Given the description of an element on the screen output the (x, y) to click on. 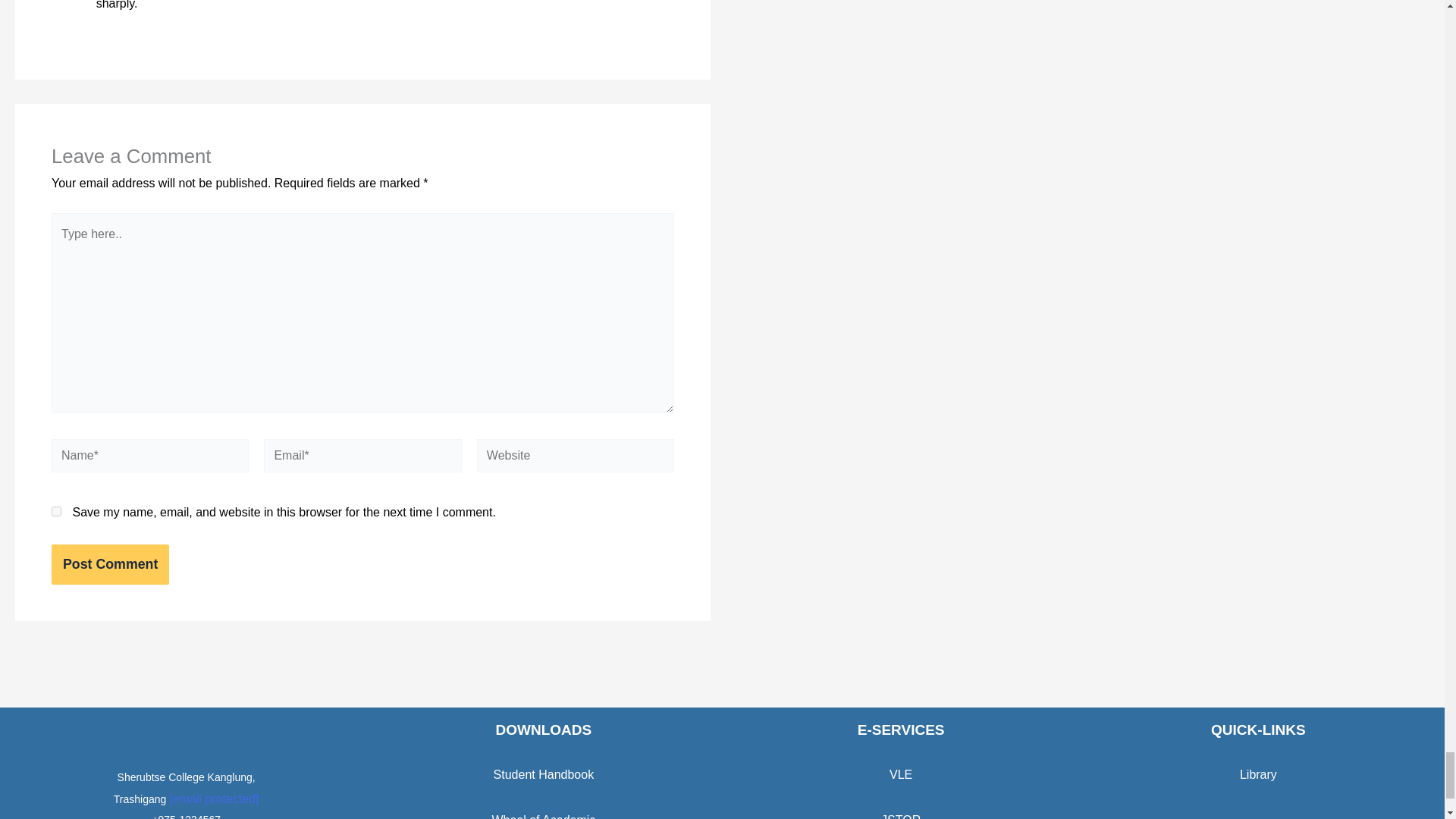
yes (55, 511)
Post Comment (109, 564)
